Given the description of an element on the screen output the (x, y) to click on. 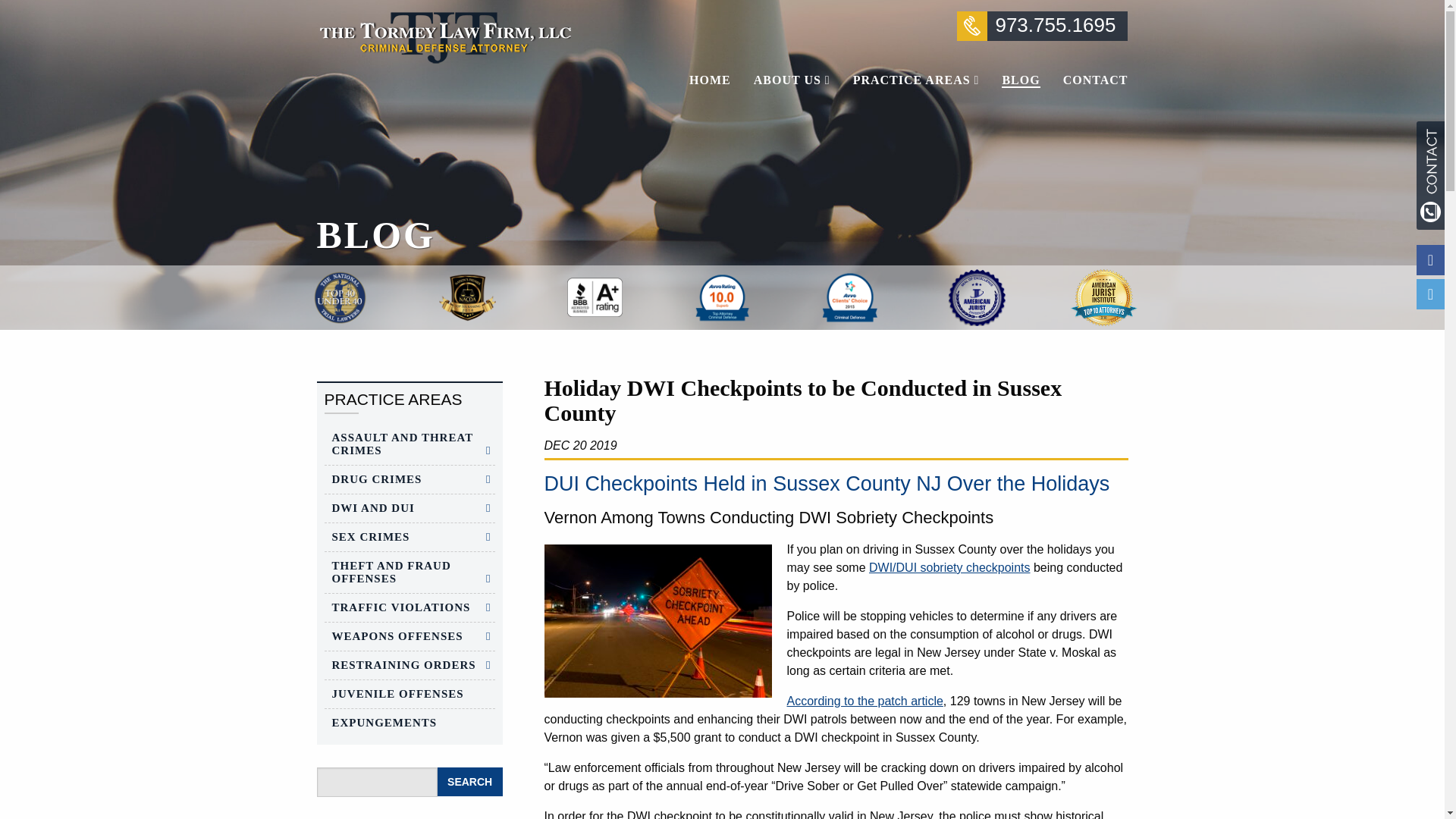
BLOG (1020, 79)
According to the patch article (865, 700)
973.755.1695 (1041, 25)
HOME (715, 79)
CONTACT (1089, 79)
ASSAULT AND THREAT CRIMES (409, 444)
Sussex and Warren County Criminal Defense Lawyers (443, 36)
Search (470, 781)
ABOUT US (791, 79)
PRACTICE AREAS (916, 79)
